Given the description of an element on the screen output the (x, y) to click on. 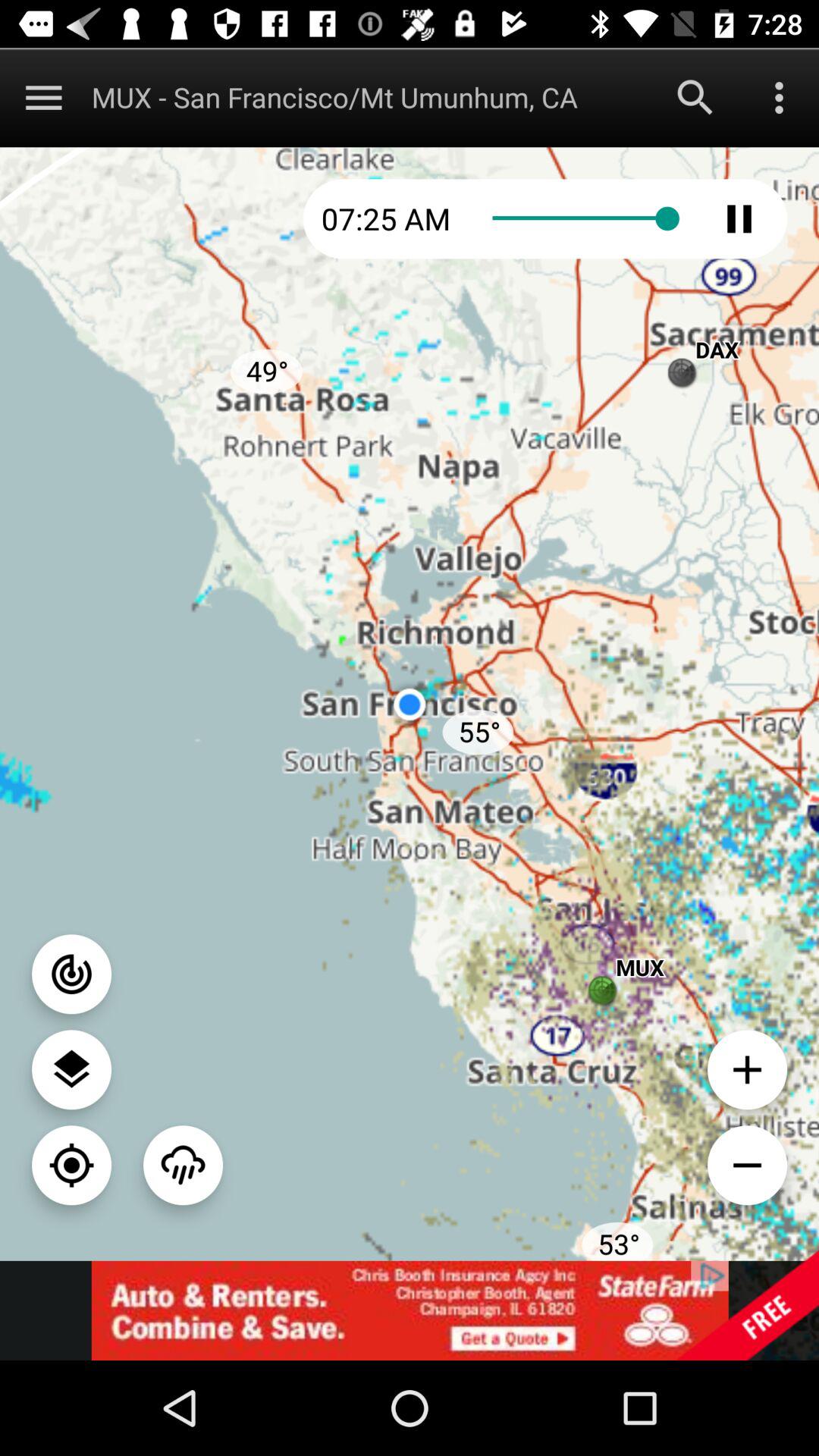
click pause option (739, 218)
